Given the description of an element on the screen output the (x, y) to click on. 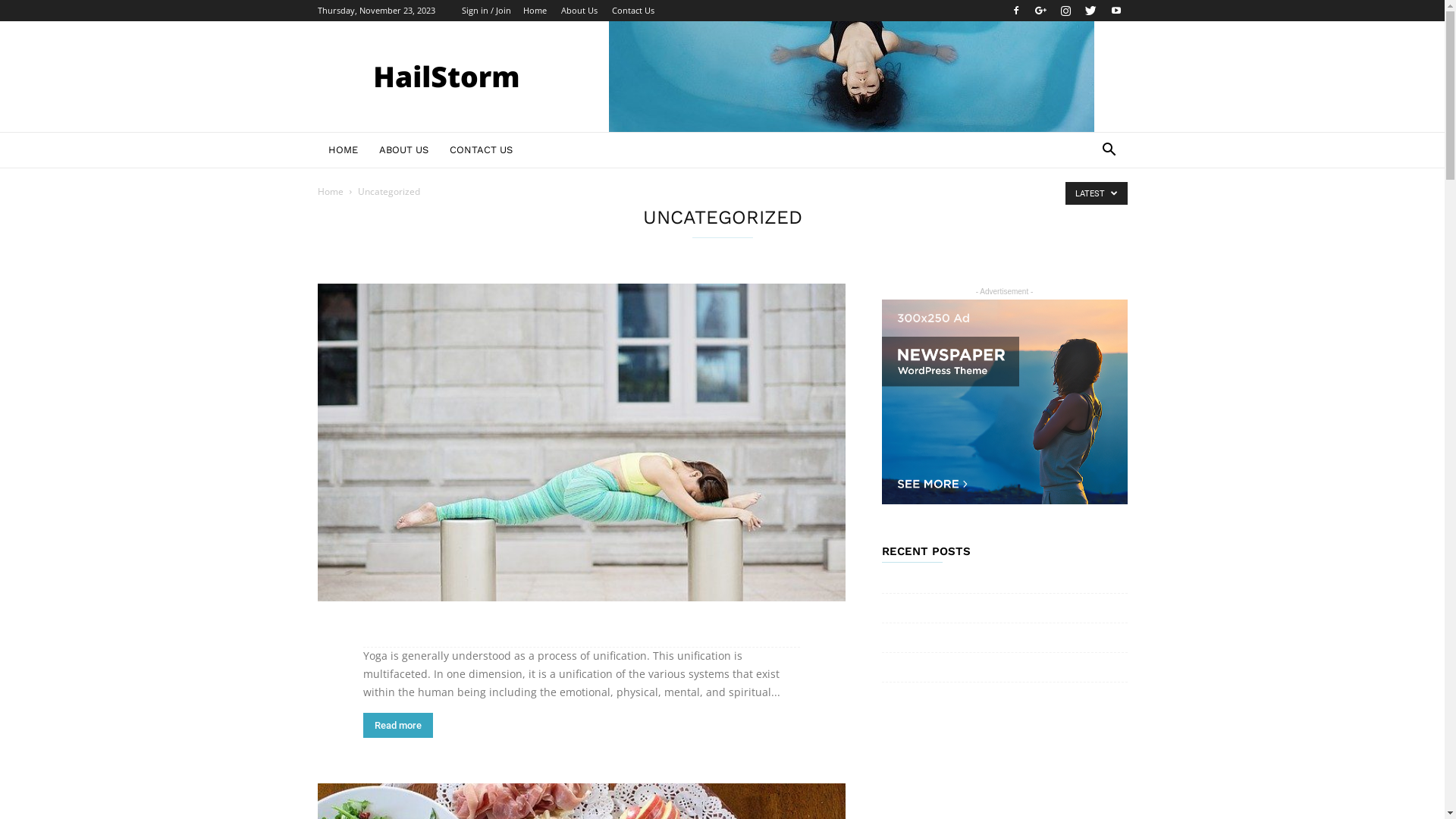
Twitter Element type: hover (1090, 10)
Home Element type: text (534, 9)
Google+ Element type: hover (1040, 10)
CONTACT US Element type: text (480, 149)
Home Element type: text (329, 191)
Contact Us Element type: text (632, 9)
Instagram Element type: hover (1065, 10)
Read more Element type: text (397, 724)
Facebook Element type: hover (1015, 10)
About Us Element type: text (579, 9)
Search Element type: text (1085, 210)
HOME Element type: text (341, 149)
ABOUT US Element type: text (403, 149)
Youtube Element type: hover (1115, 10)
Sign in / Join Element type: text (485, 9)
